Given the description of an element on the screen output the (x, y) to click on. 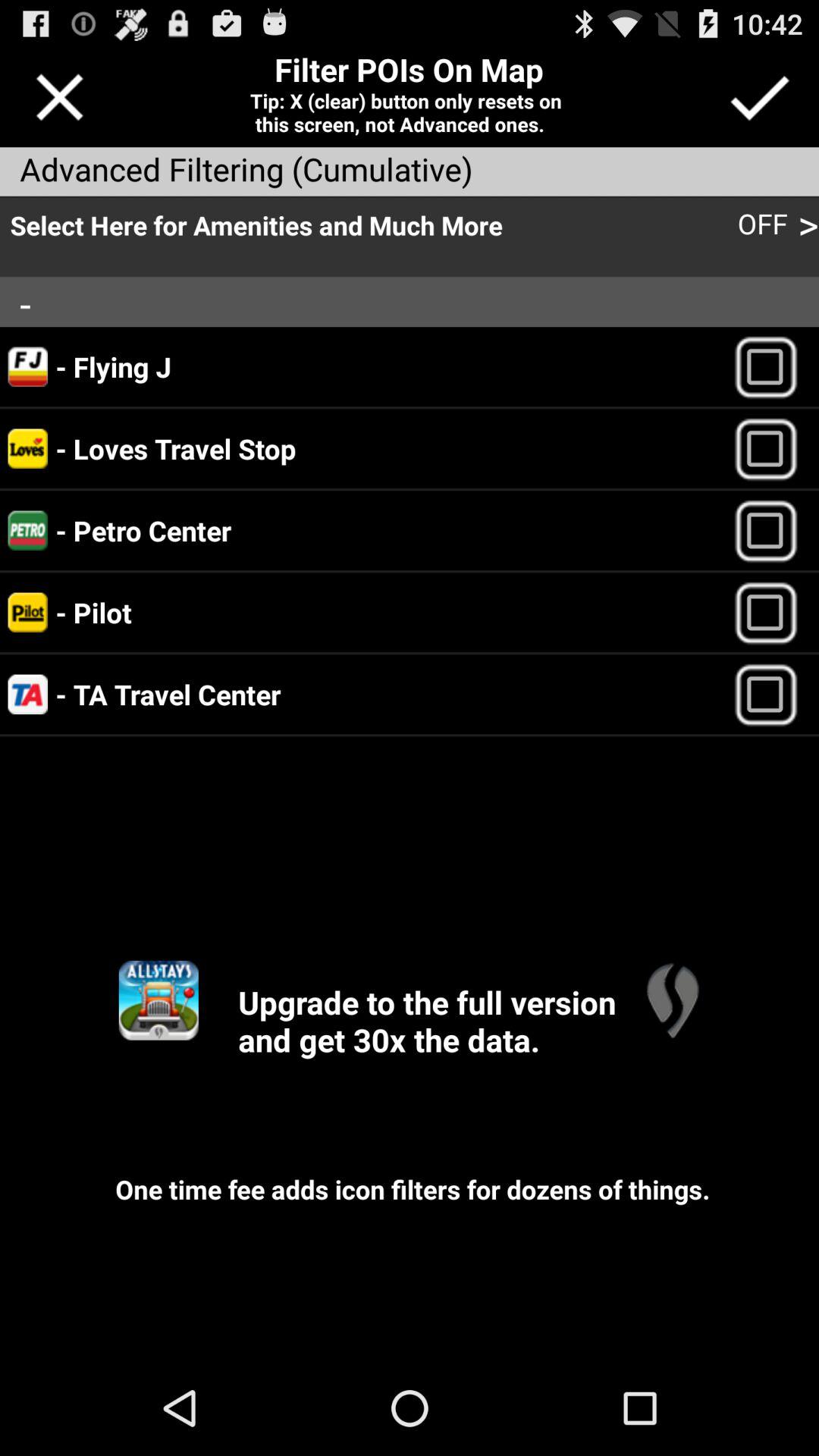
select the pilot option (772, 612)
